Given the description of an element on the screen output the (x, y) to click on. 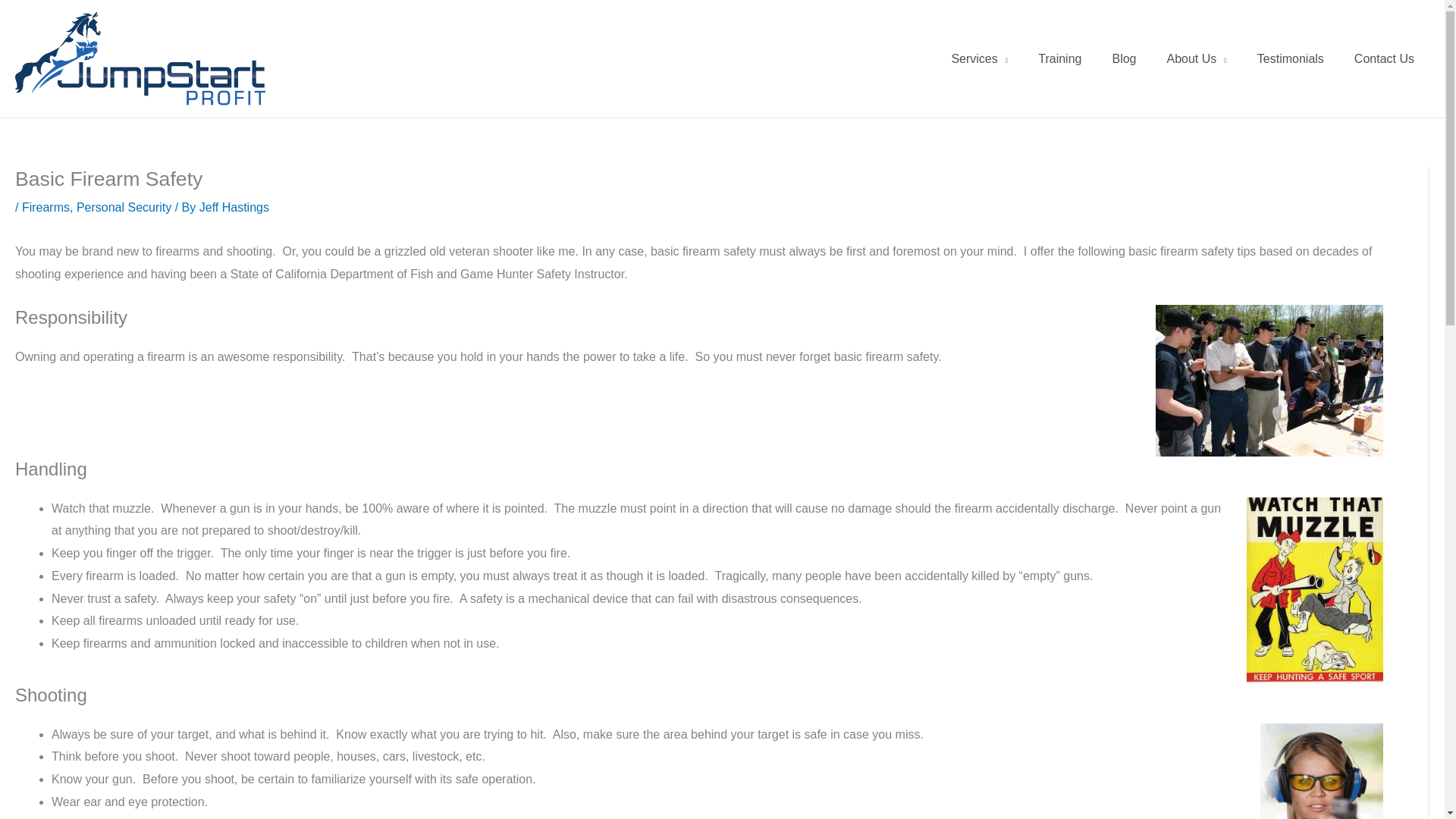
Testimonials (1290, 59)
Services (979, 59)
View all posts by Jeff Hastings (234, 206)
Training (1059, 59)
Personal Security (124, 206)
Jeff Hastings (234, 206)
About Us (1196, 59)
Blog (1123, 59)
Contact Us (1384, 59)
Firearms (45, 206)
